Given the description of an element on the screen output the (x, y) to click on. 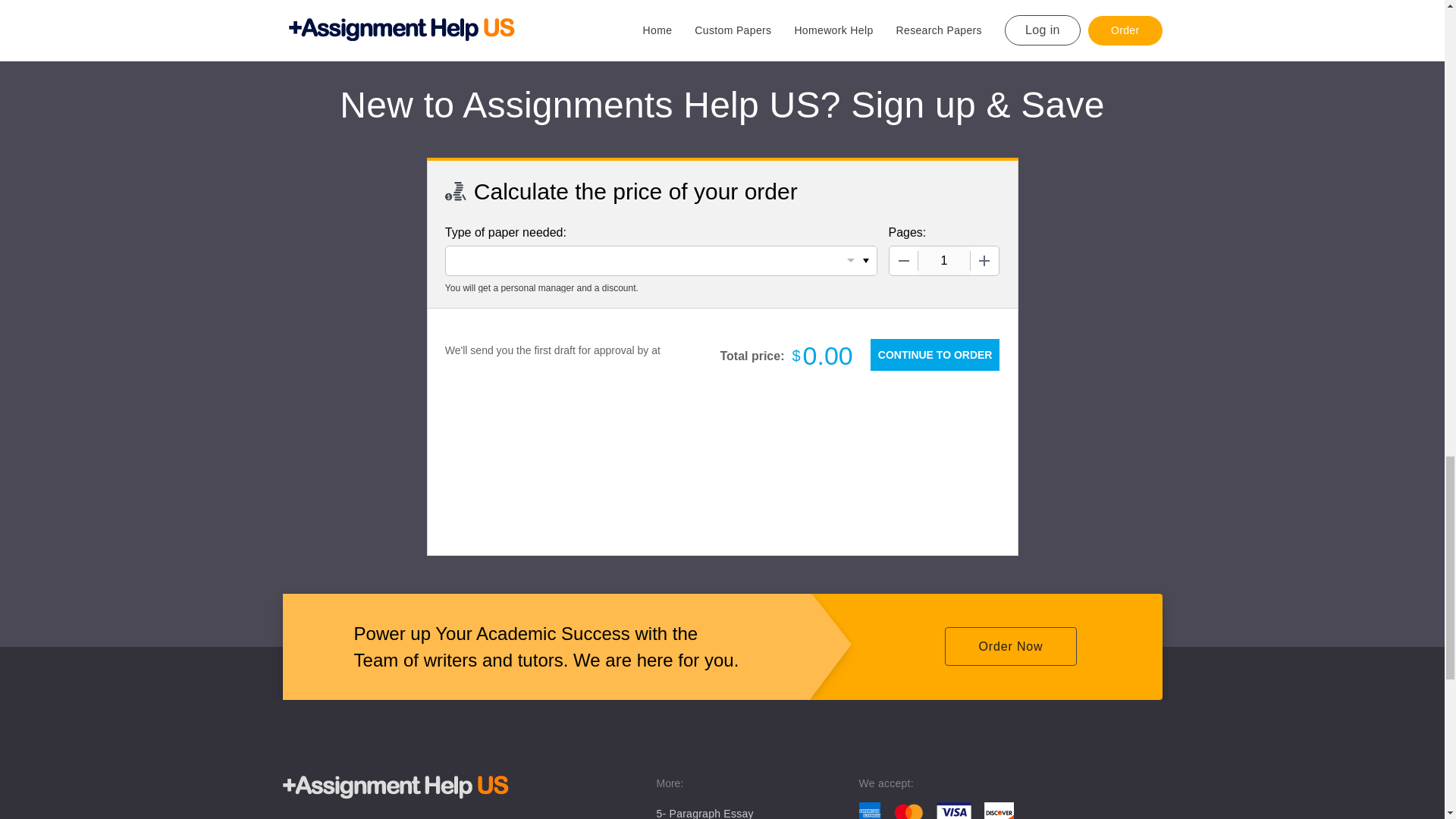
Continue to order (934, 355)
Decrease (902, 260)
Continue to Order (934, 355)
5- Paragraph Essay (705, 813)
Increase (983, 260)
1 (943, 260)
Continue to order (934, 355)
Order Now (1009, 646)
